Given the description of an element on the screen output the (x, y) to click on. 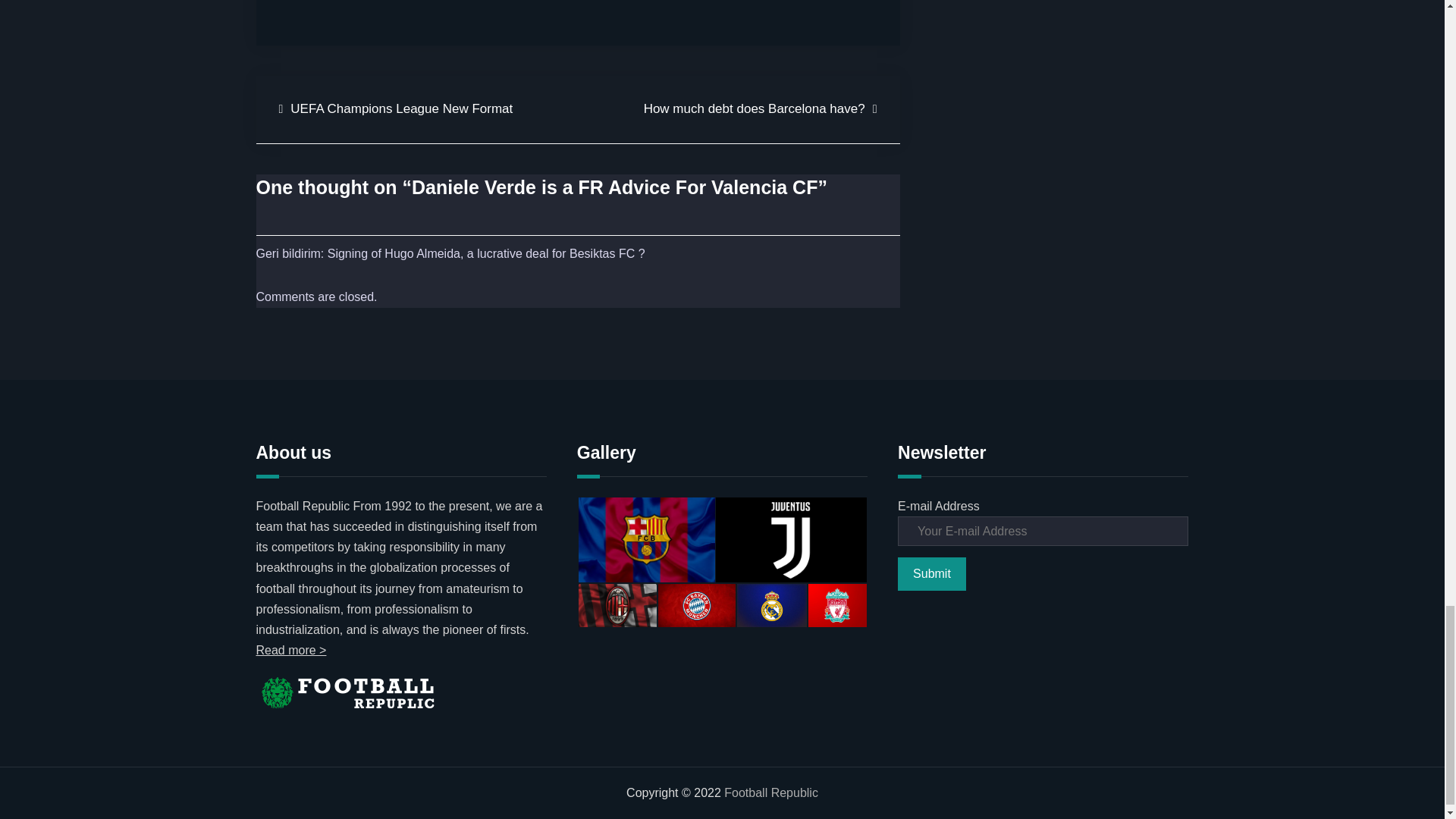
AC-Milan (617, 605)
liverpool-logo (837, 605)
Bayern Munich (696, 605)
real-madrid-logo (771, 605)
juventus-log (791, 539)
Submit (932, 573)
fc-barcelona (646, 539)
